Given the description of an element on the screen output the (x, y) to click on. 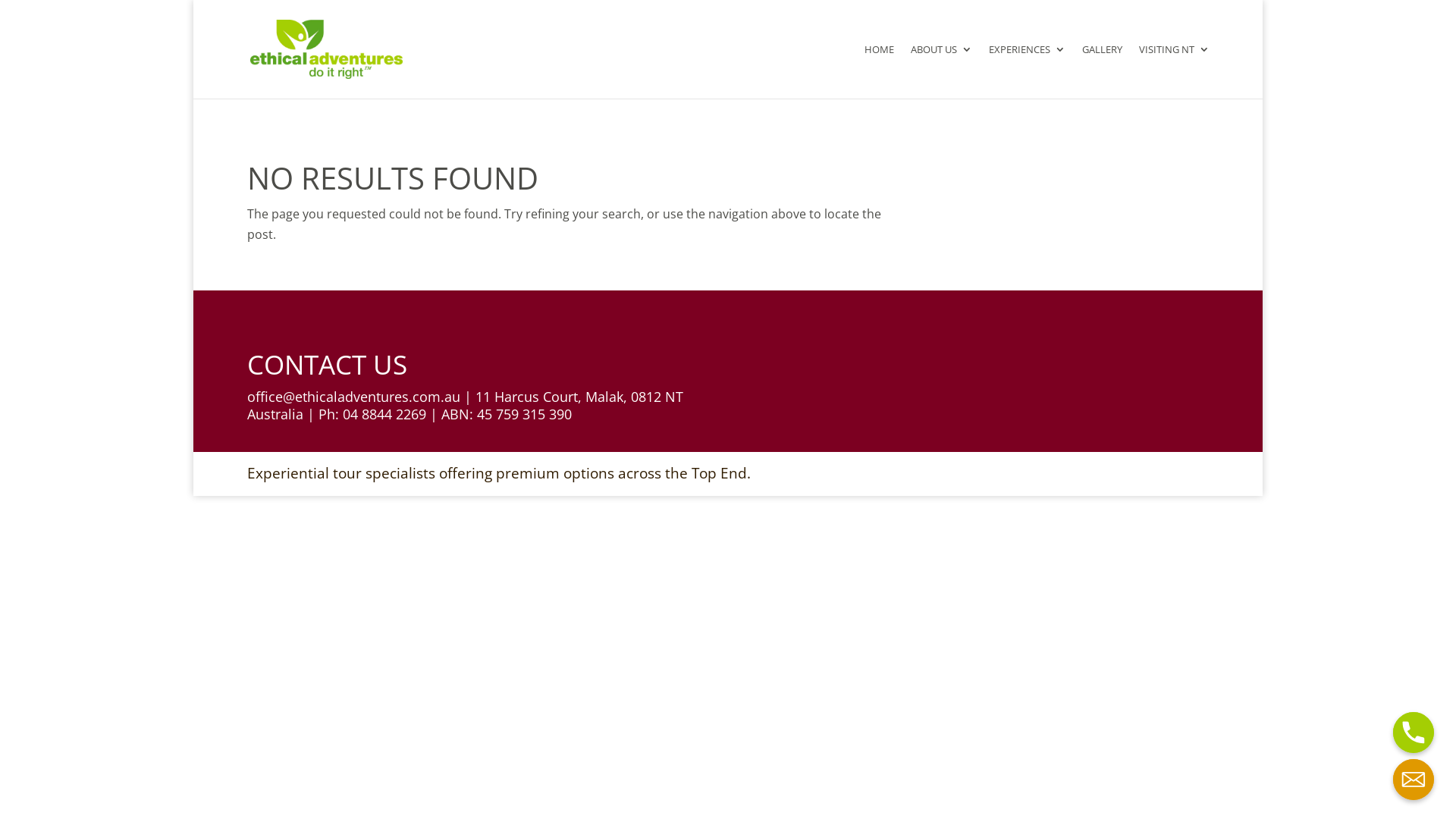
ABOUT US Element type: text (940, 70)
EXPERIENCES Element type: text (1026, 70)
VISITING NT Element type: text (1174, 70)
HOME Element type: text (879, 70)
GALLERY Element type: text (1101, 70)
